Given the description of an element on the screen output the (x, y) to click on. 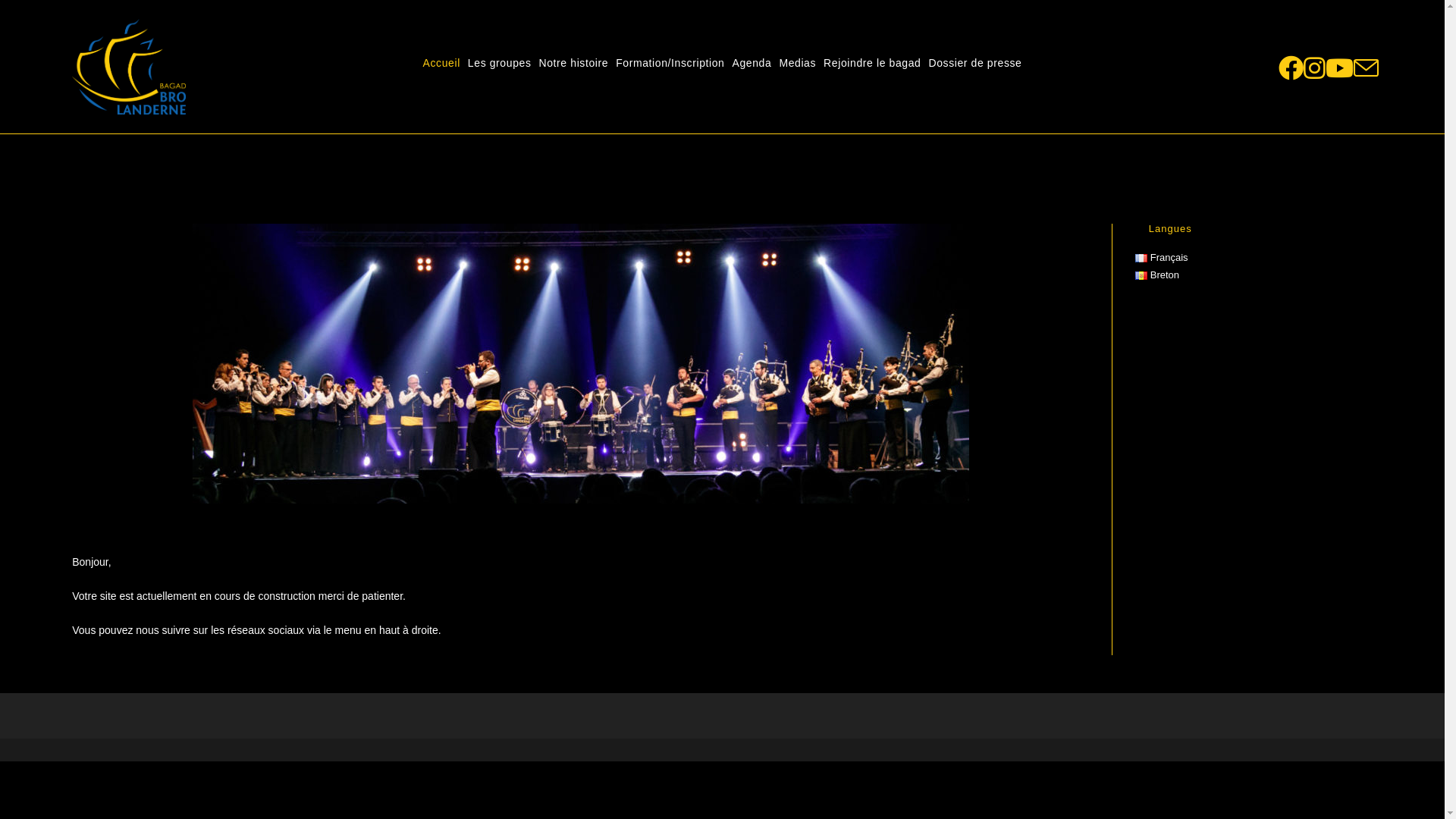
Rejoindre le bagad Element type: text (871, 62)
Les groupes Element type: text (499, 62)
Accueil Element type: text (441, 62)
Medias Element type: text (797, 62)
Agenda Element type: text (751, 62)
Breton Element type: text (1157, 274)
Dossier de presse Element type: text (974, 62)
Formation/Inscription Element type: text (669, 62)
Notre histoire Element type: text (573, 62)
